Given the description of an element on the screen output the (x, y) to click on. 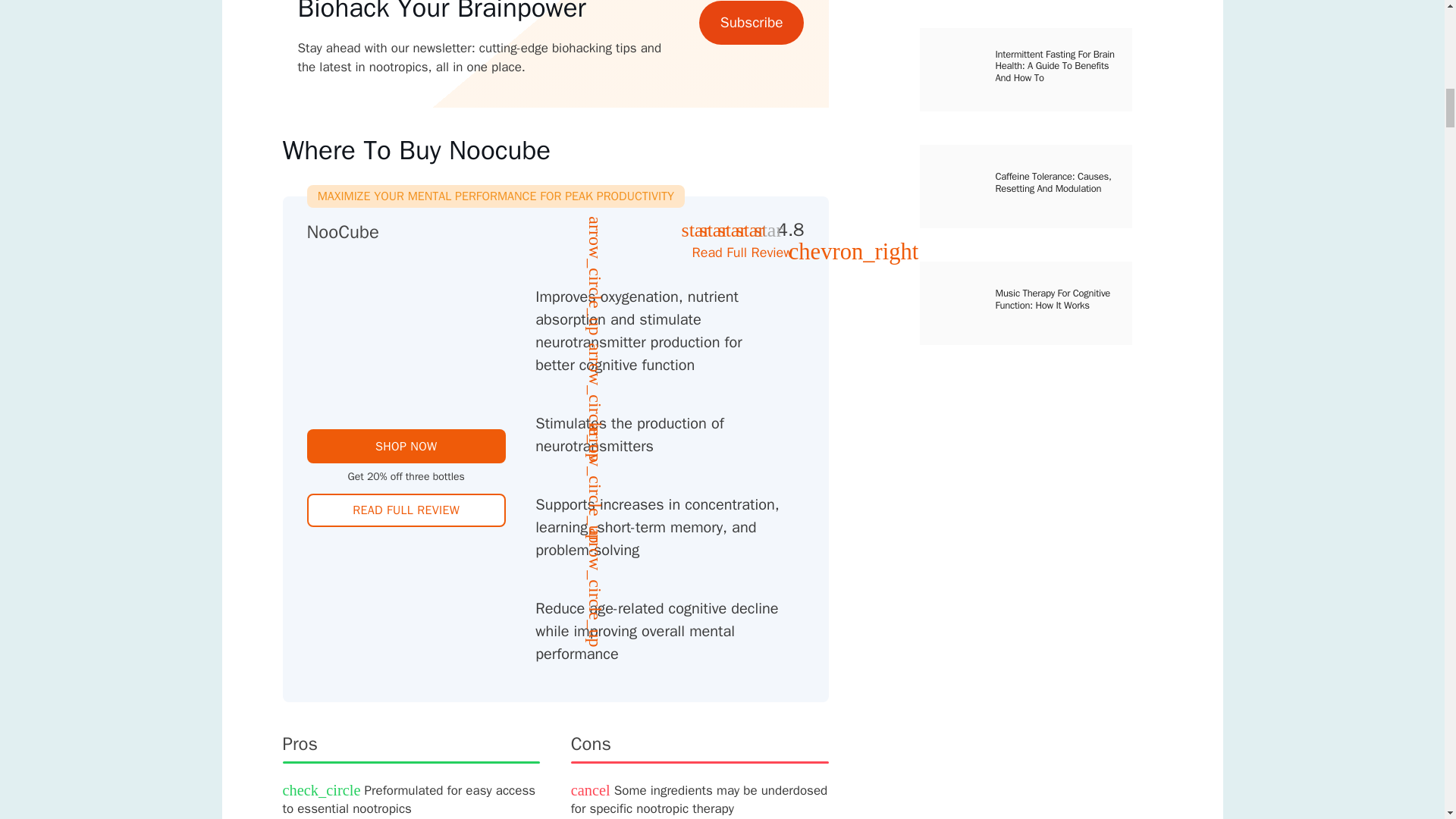
READ FULL REVIEW (405, 510)
SHOP NOW (405, 445)
Read Full Review (749, 252)
Subscribe (750, 22)
